Given the description of an element on the screen output the (x, y) to click on. 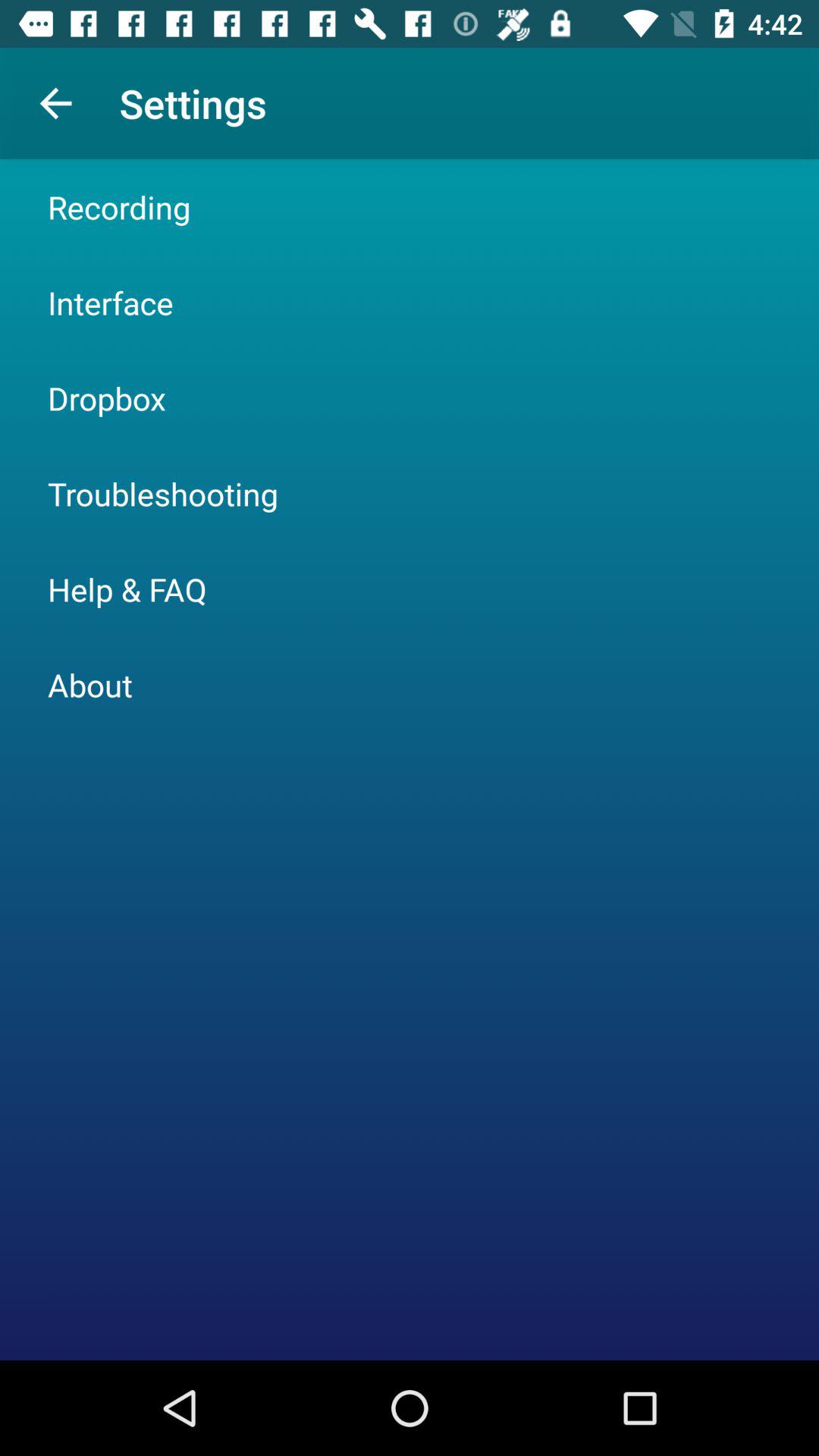
choose app next to the settings (55, 103)
